Given the description of an element on the screen output the (x, y) to click on. 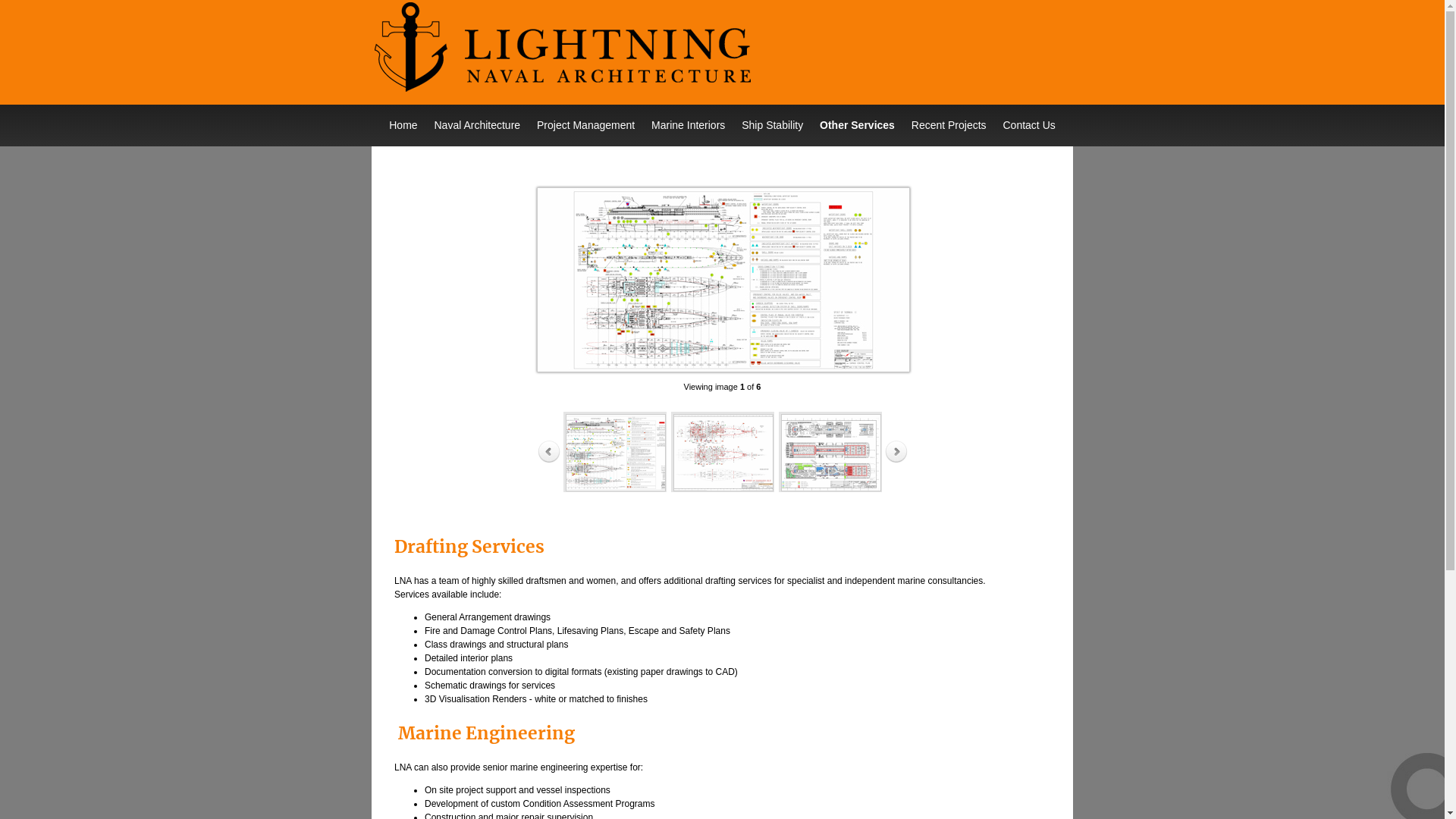
Home Element type: text (402, 125)
Ship Stability Element type: text (771, 125)
Marine Interiors Element type: text (687, 125)
Naval Architecture Element type: text (476, 125)
Project Management Element type: text (585, 125)
Contact Us Element type: text (1029, 125)
Recent Projects Element type: text (948, 125)
Other Services Element type: text (856, 125)
